Given the description of an element on the screen output the (x, y) to click on. 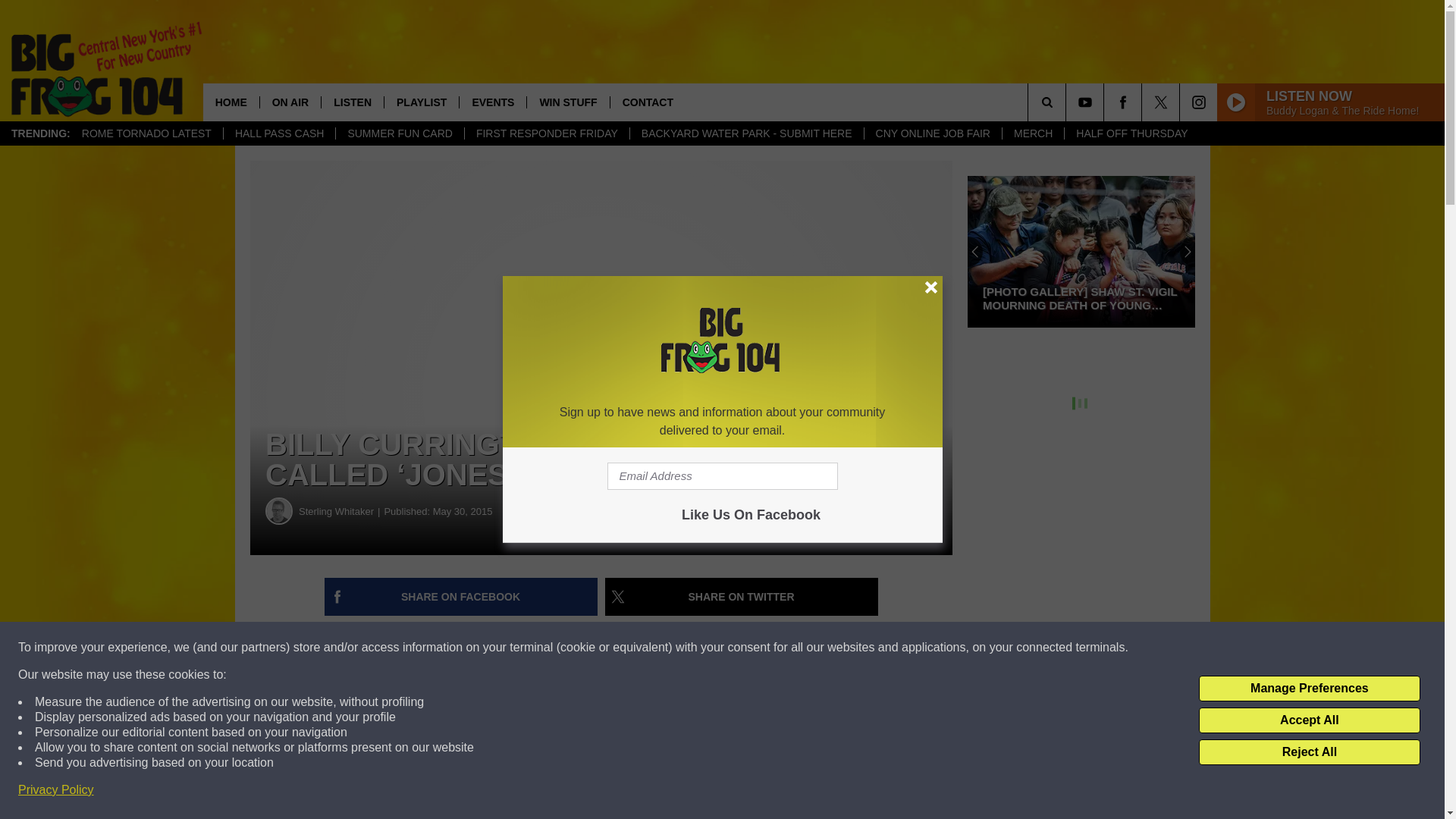
WIN STUFF (566, 102)
CONTACT (647, 102)
Manage Preferences (1309, 688)
Email Address (722, 475)
BACKYARD WATER PARK - SUBMIT HERE (745, 133)
FIRST RESPONDER FRIDAY (546, 133)
HOME (231, 102)
SEARCH (1068, 102)
ON AIR (289, 102)
PLAYLIST (421, 102)
HALL PASS CASH (279, 133)
Accept All (1309, 720)
Privacy Policy (55, 789)
ROME TORNADO LATEST (145, 133)
Reject All (1309, 751)
